Given the description of an element on the screen output the (x, y) to click on. 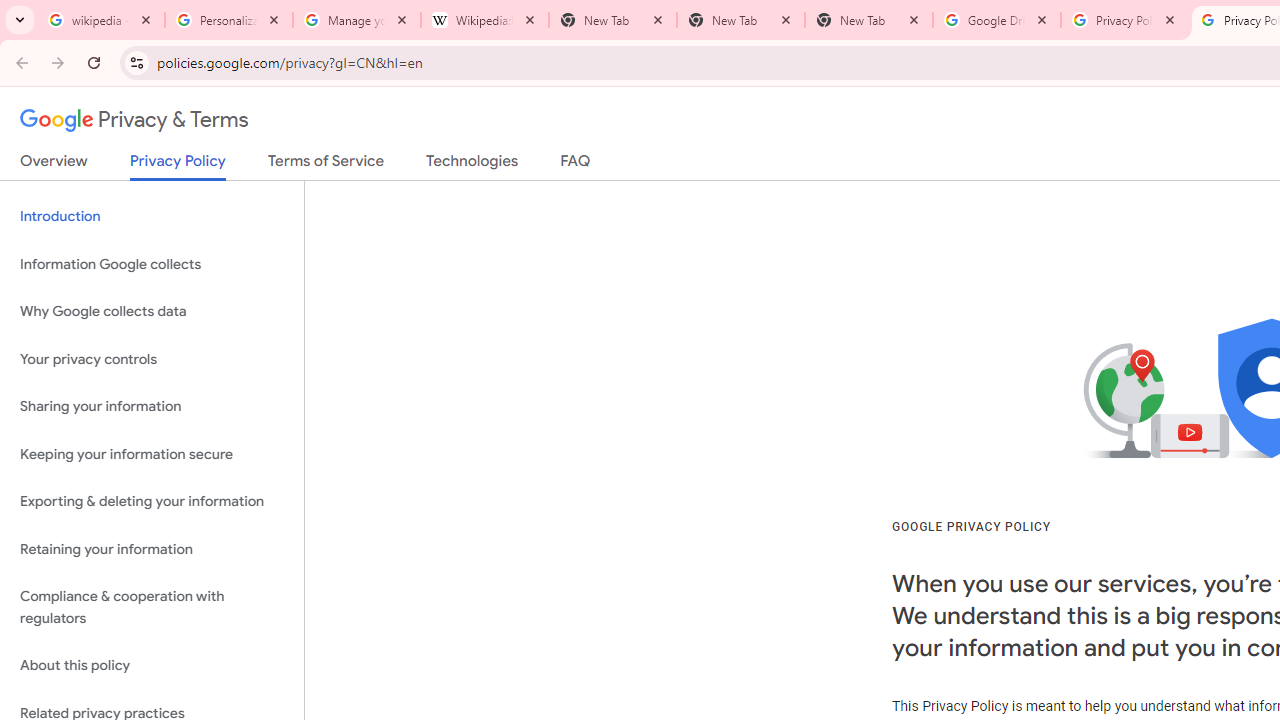
Wikipedia:Edit requests - Wikipedia (485, 20)
Manage your Location History - Google Search Help (357, 20)
Why Google collects data (152, 312)
Retaining your information (152, 548)
Exporting & deleting your information (152, 502)
Personalization & Google Search results - Google Search Help (229, 20)
Your privacy controls (152, 358)
